Given the description of an element on the screen output the (x, y) to click on. 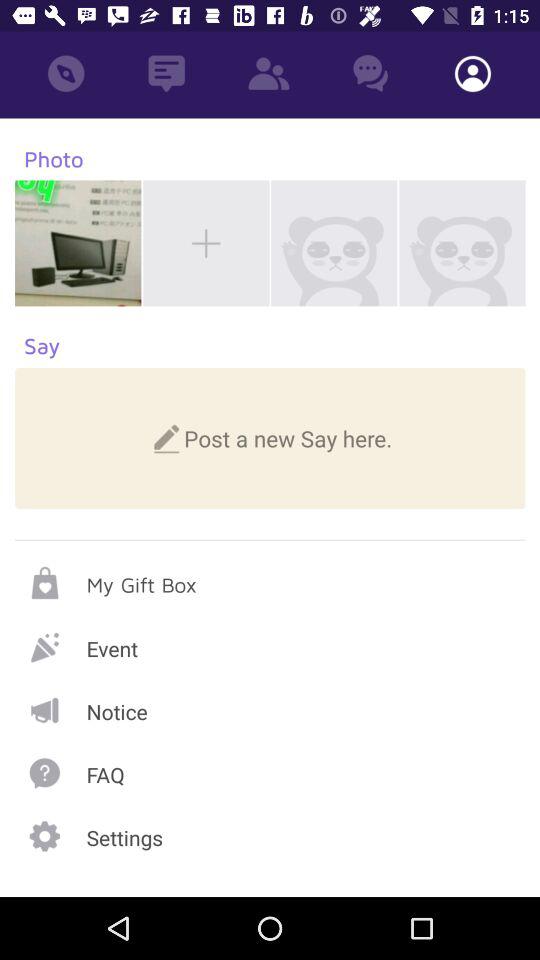
go to event (270, 646)
